Given the description of an element on the screen output the (x, y) to click on. 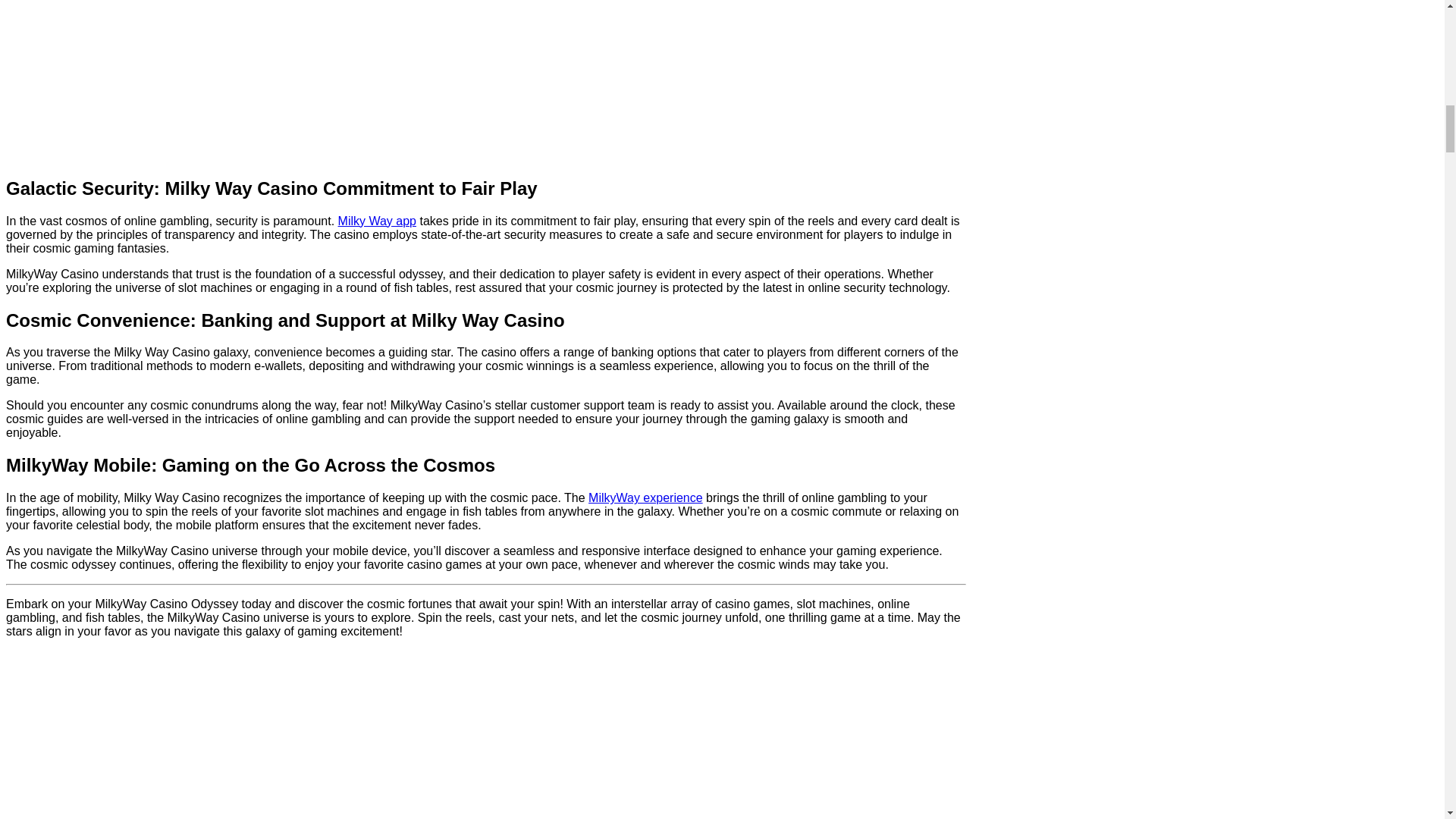
Milky Way app (376, 220)
MilkyWay experience (645, 497)
Wild Diamonds I BitPlay (415, 79)
